Given the description of an element on the screen output the (x, y) to click on. 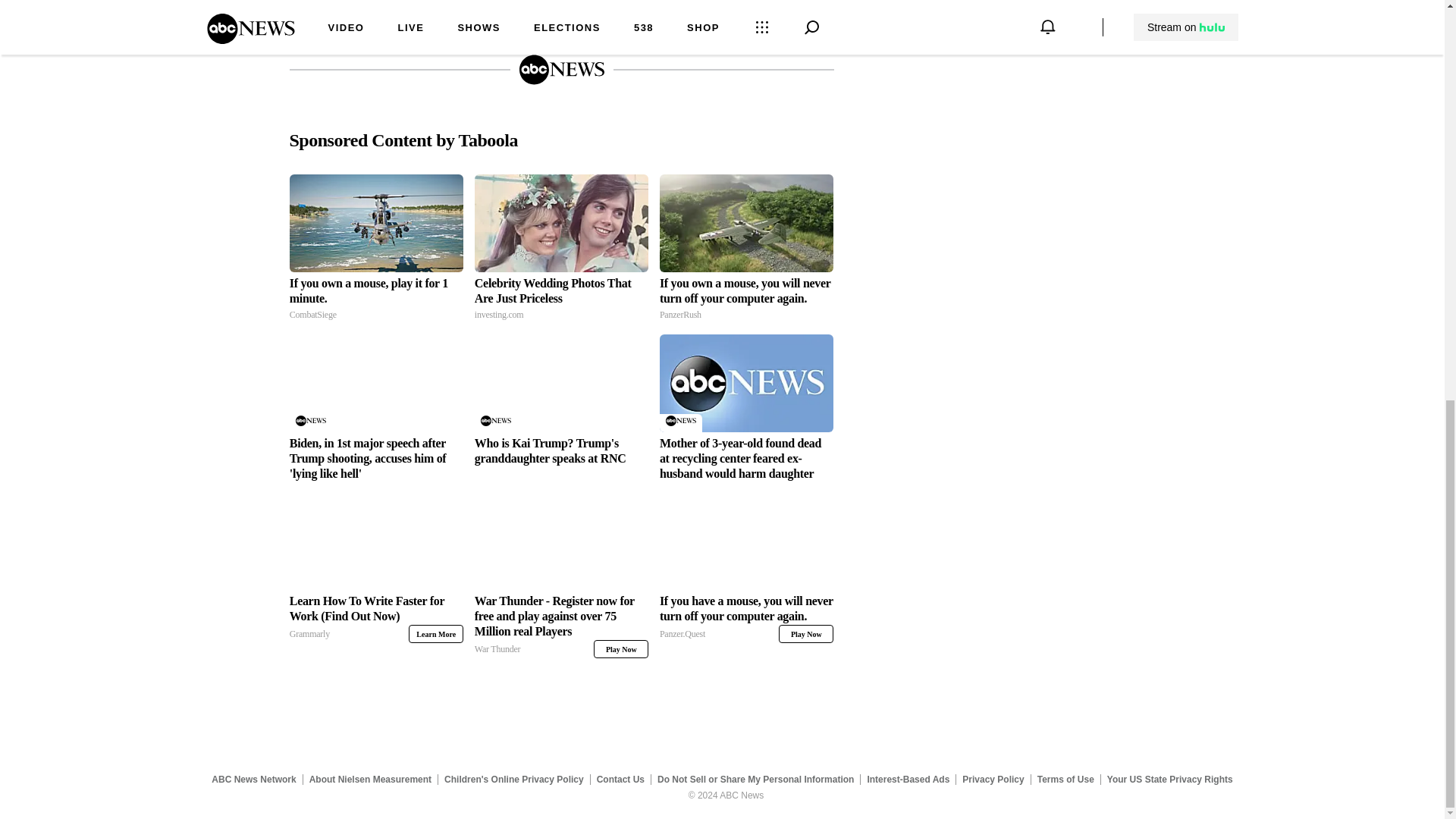
Who is Kai Trump? Trump's granddaughter speaks at RNC (560, 383)
Who is Kai Trump? Trump's granddaughter speaks at RNC (560, 450)
Celebrity Wedding Photos That Are Just Priceless (376, 299)
Play Now (560, 222)
If you own a mouse, play it for 1 minute. (620, 648)
Learn More (376, 222)
If you own a mouse, play it for 1 minute. (436, 633)
